Given the description of an element on the screen output the (x, y) to click on. 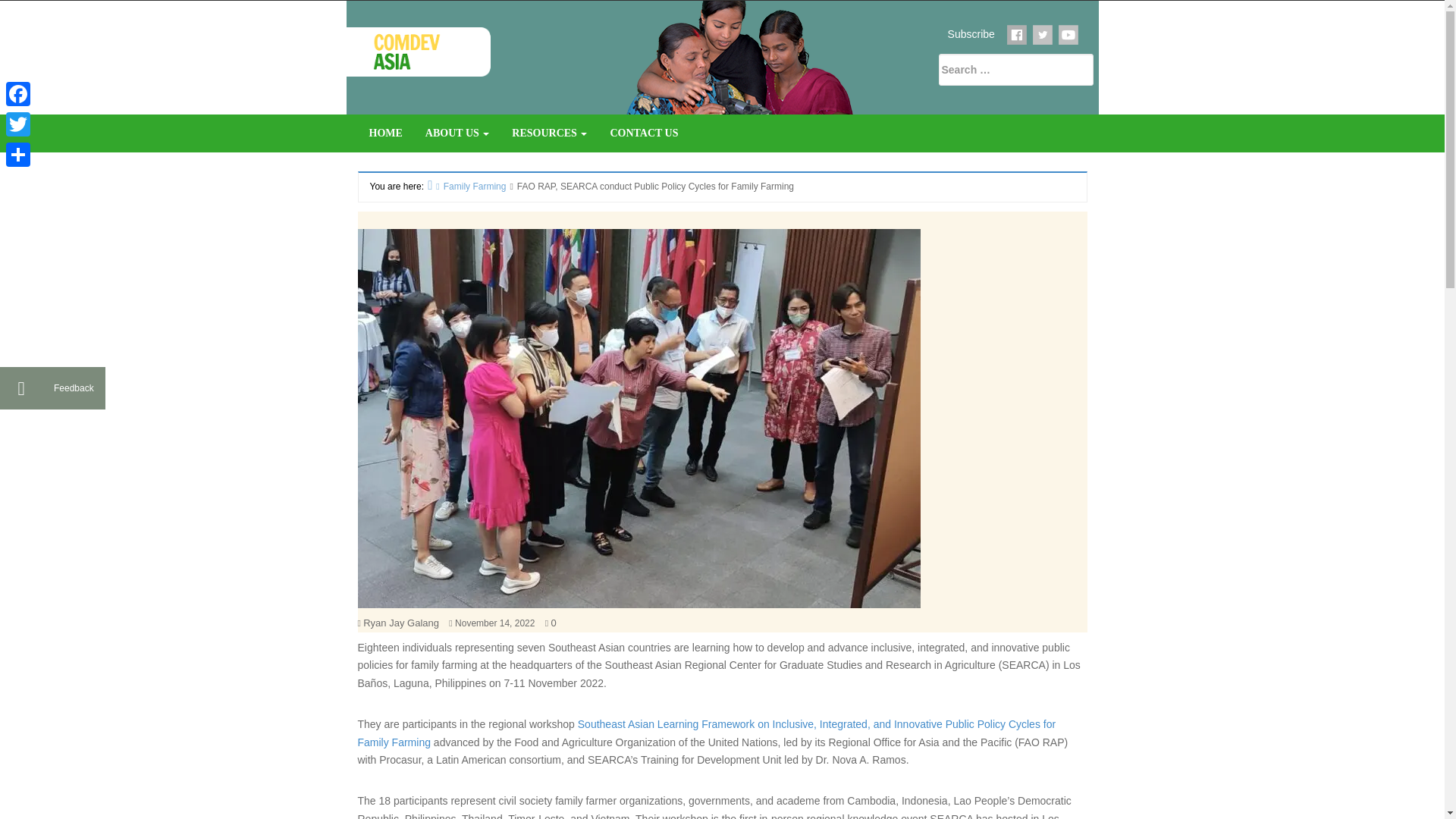
HOME (385, 133)
Home (385, 133)
Resources (549, 133)
Posts by Ryan Jay Galang (400, 622)
Monday, November 14, 2022, 12:15 pm (494, 623)
Search (250, 12)
Ryan Jay Galang (400, 622)
RESOURCES (549, 133)
Contact Us (643, 133)
